Given the description of an element on the screen output the (x, y) to click on. 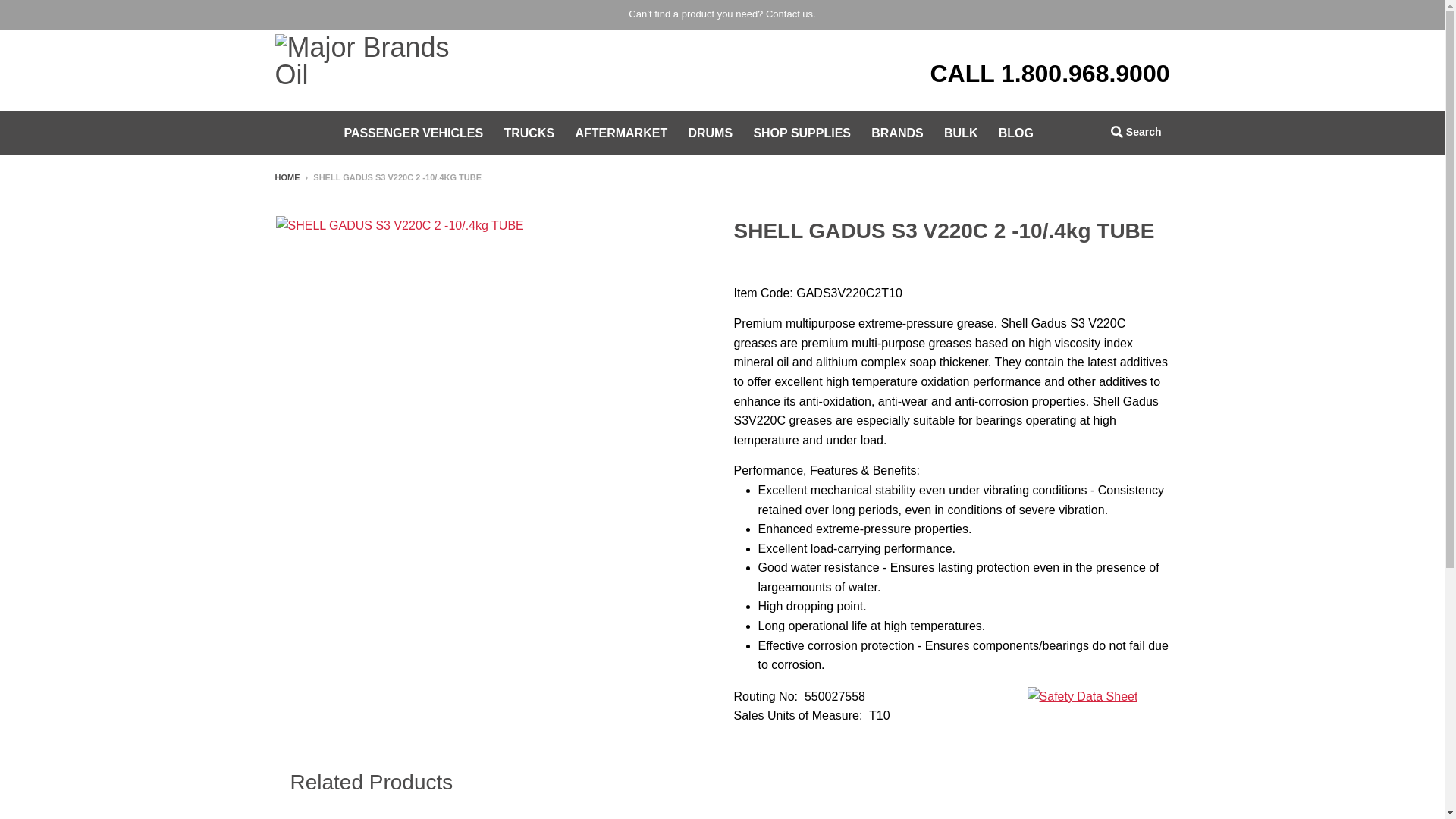
CALL 1.800.968.9000 (1049, 72)
BULK (960, 133)
BLOG (1016, 133)
PASSENGER VEHICLES (413, 133)
SHOP SUPPLIES (801, 133)
TRUCKS (528, 133)
Back to the frontpage (287, 176)
DRUMS (710, 133)
AFTERMARKET (620, 133)
Search (1136, 131)
BRANDS (897, 133)
HOME (287, 176)
